Given the description of an element on the screen output the (x, y) to click on. 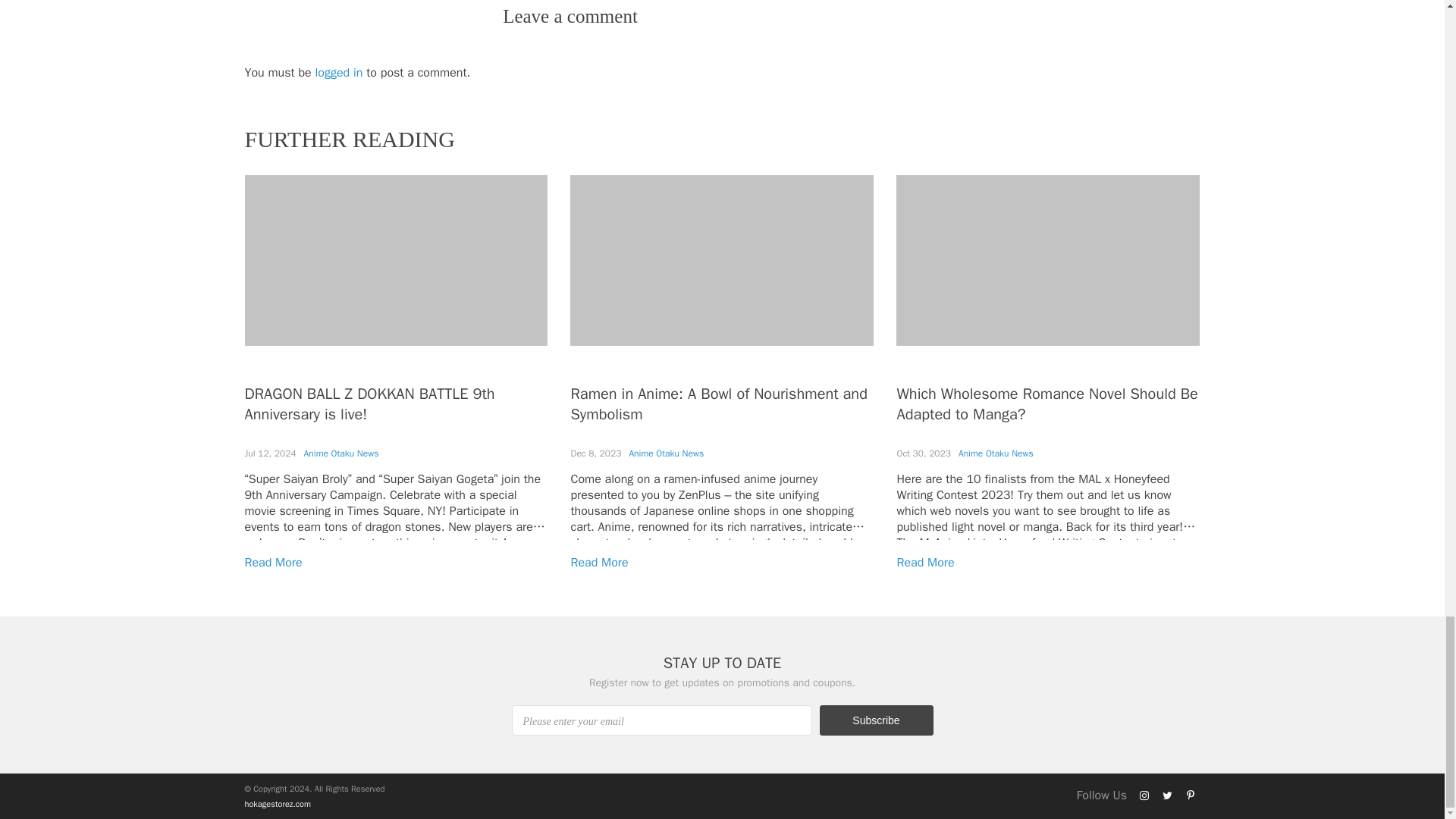
Read More (598, 562)
Anime Otaku News (995, 453)
Subscribe (875, 720)
Read More (272, 562)
Read More (924, 562)
logged in (338, 72)
Anime Otaku News (665, 453)
Which Wholesome Romance Novel Should Be Adapted to Manga? (1046, 404)
DRAGON BALL Z DOKKAN BATTLE 9th Anniversary is live! (369, 404)
Anime Otaku News (341, 453)
Ramen in Anime: A Bowl of Nourishment and Symbolism (718, 404)
